Given the description of an element on the screen output the (x, y) to click on. 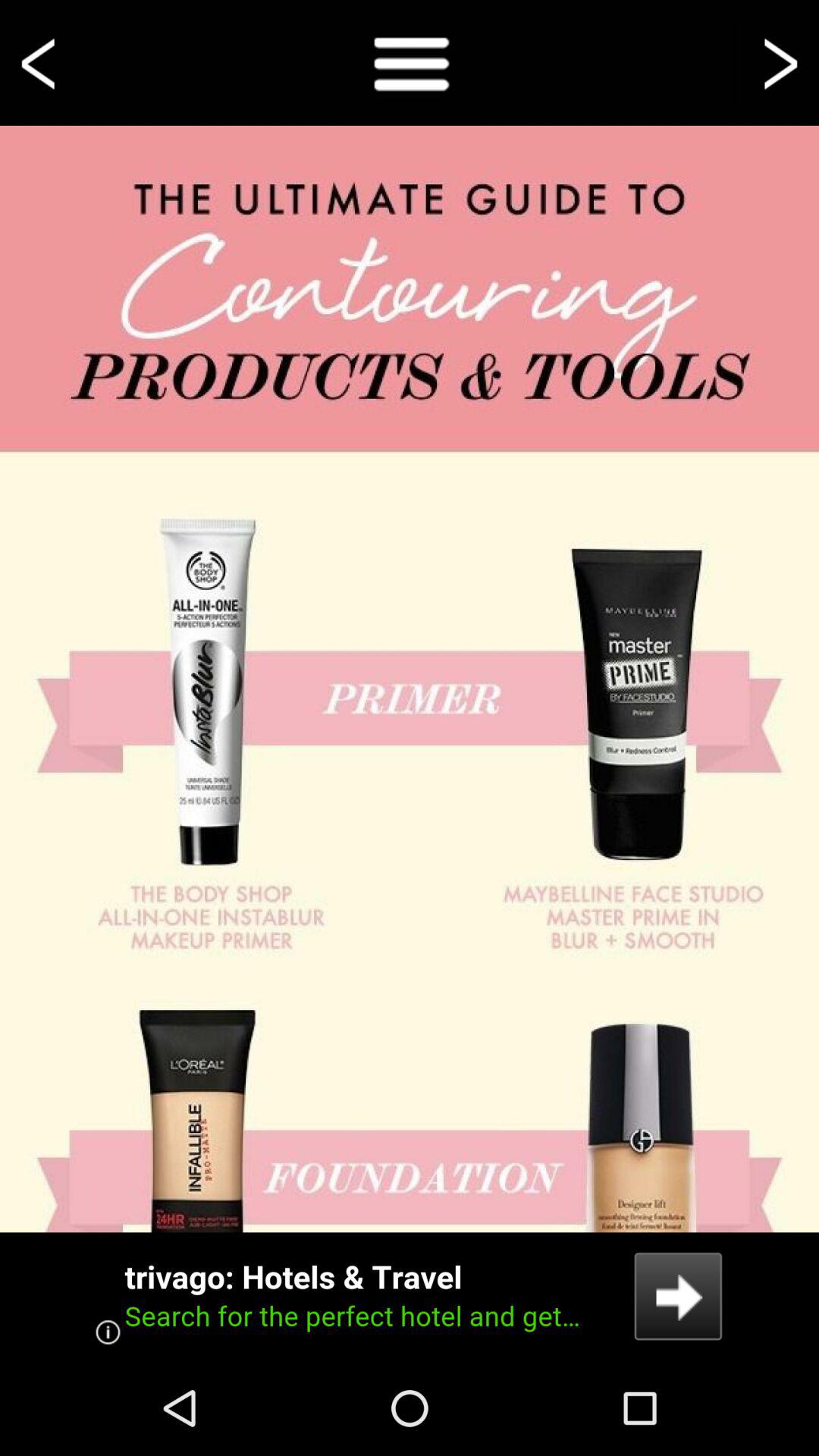
open app menu (409, 62)
